Given the description of an element on the screen output the (x, y) to click on. 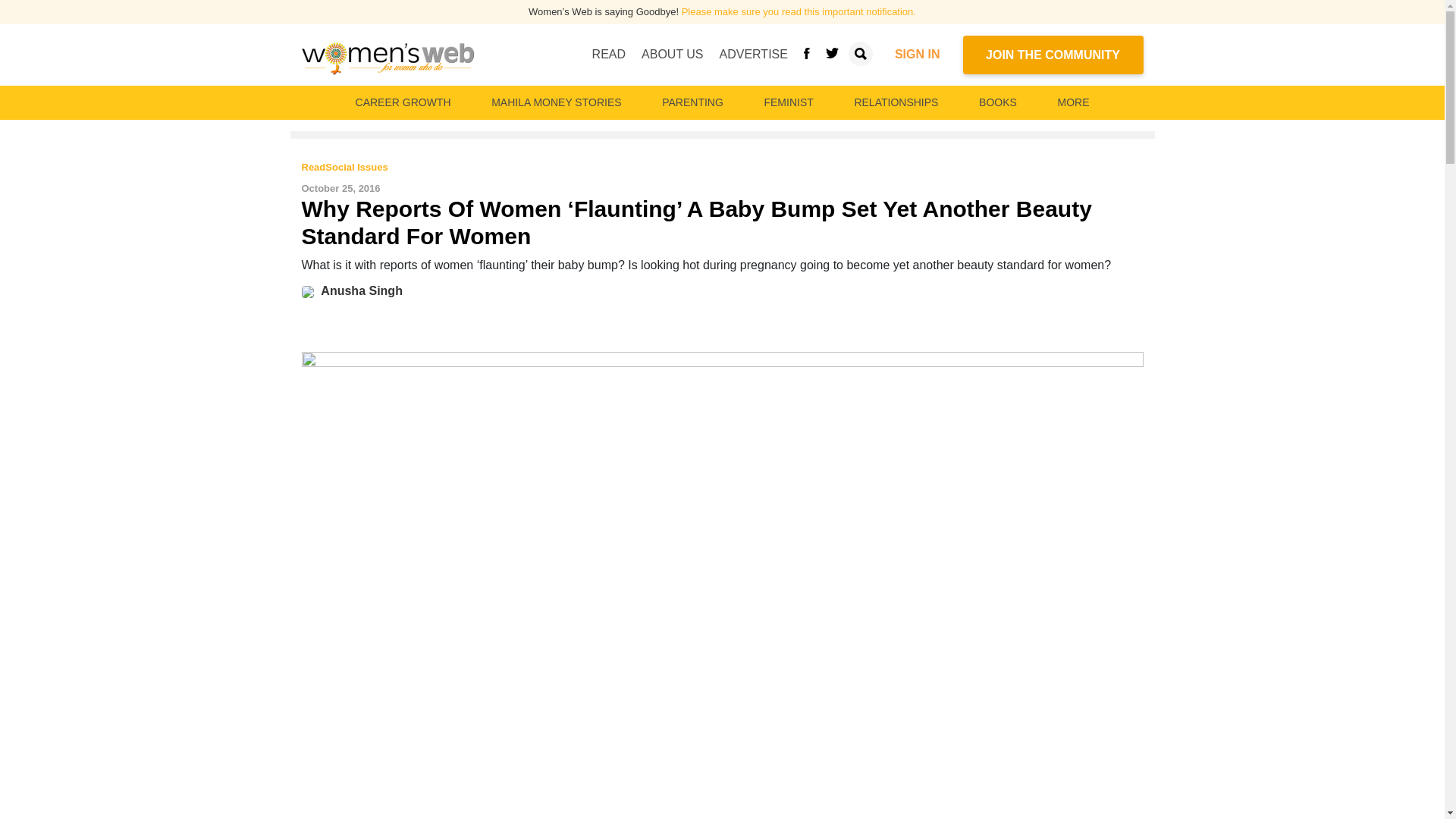
PARENTING (691, 102)
BOOKS (998, 102)
ADVERTISE (753, 54)
Anusha Singh (361, 290)
MORE (1072, 102)
RELATIONSHIPS (894, 102)
READ (608, 54)
ABOUT US (672, 54)
FEMINIST (788, 102)
CAREER GROWTH (402, 102)
MAHILA MONEY STORIES (555, 102)
Anusha Singh (311, 290)
Please make sure you read this important notification. (798, 11)
